Given the description of an element on the screen output the (x, y) to click on. 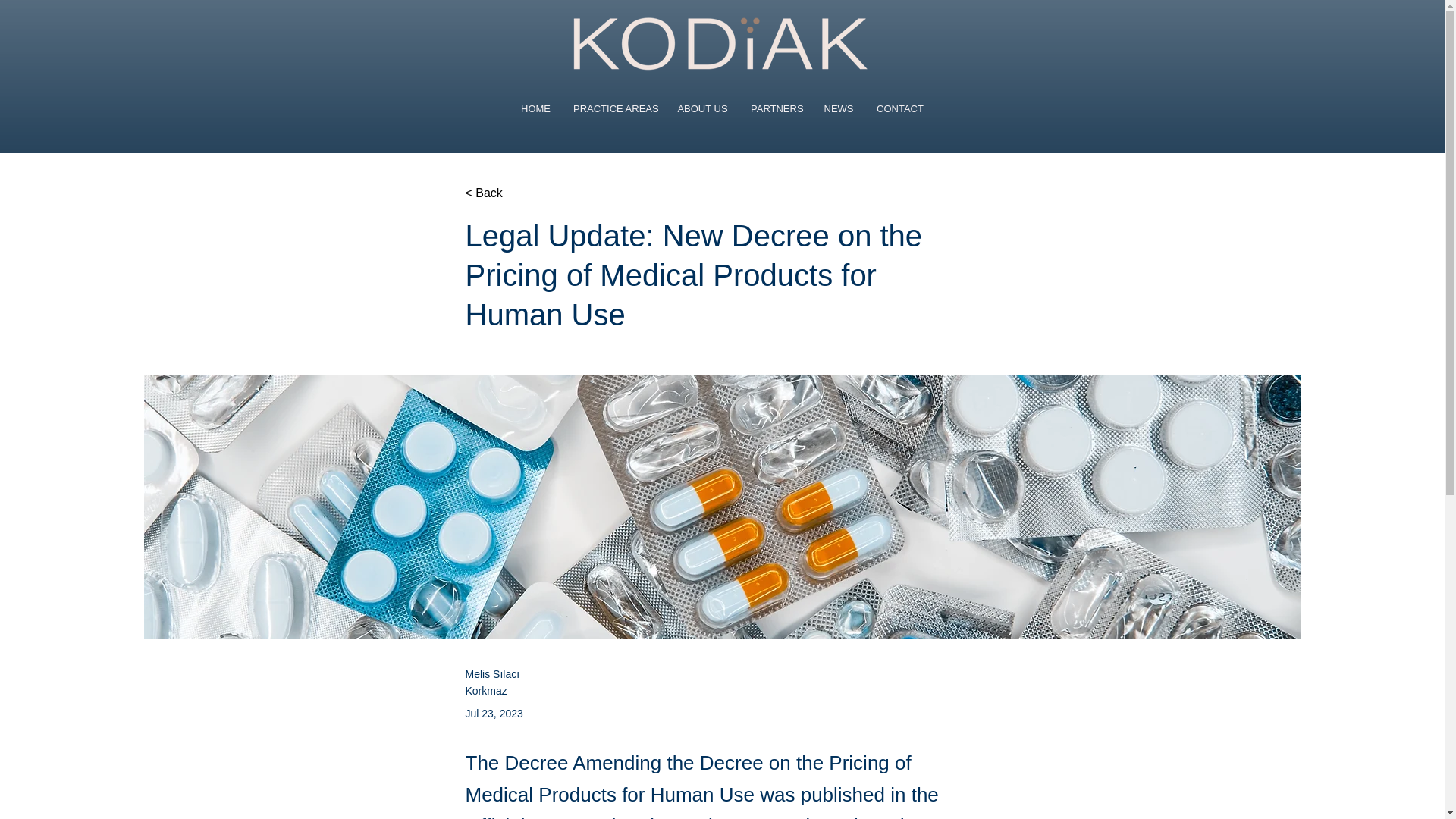
PARTNERS (775, 108)
PRACTICE AREAS (613, 108)
HOME (535, 108)
ABOUT US (702, 108)
CONTACT (899, 108)
NEWS (838, 108)
